Given the description of an element on the screen output the (x, y) to click on. 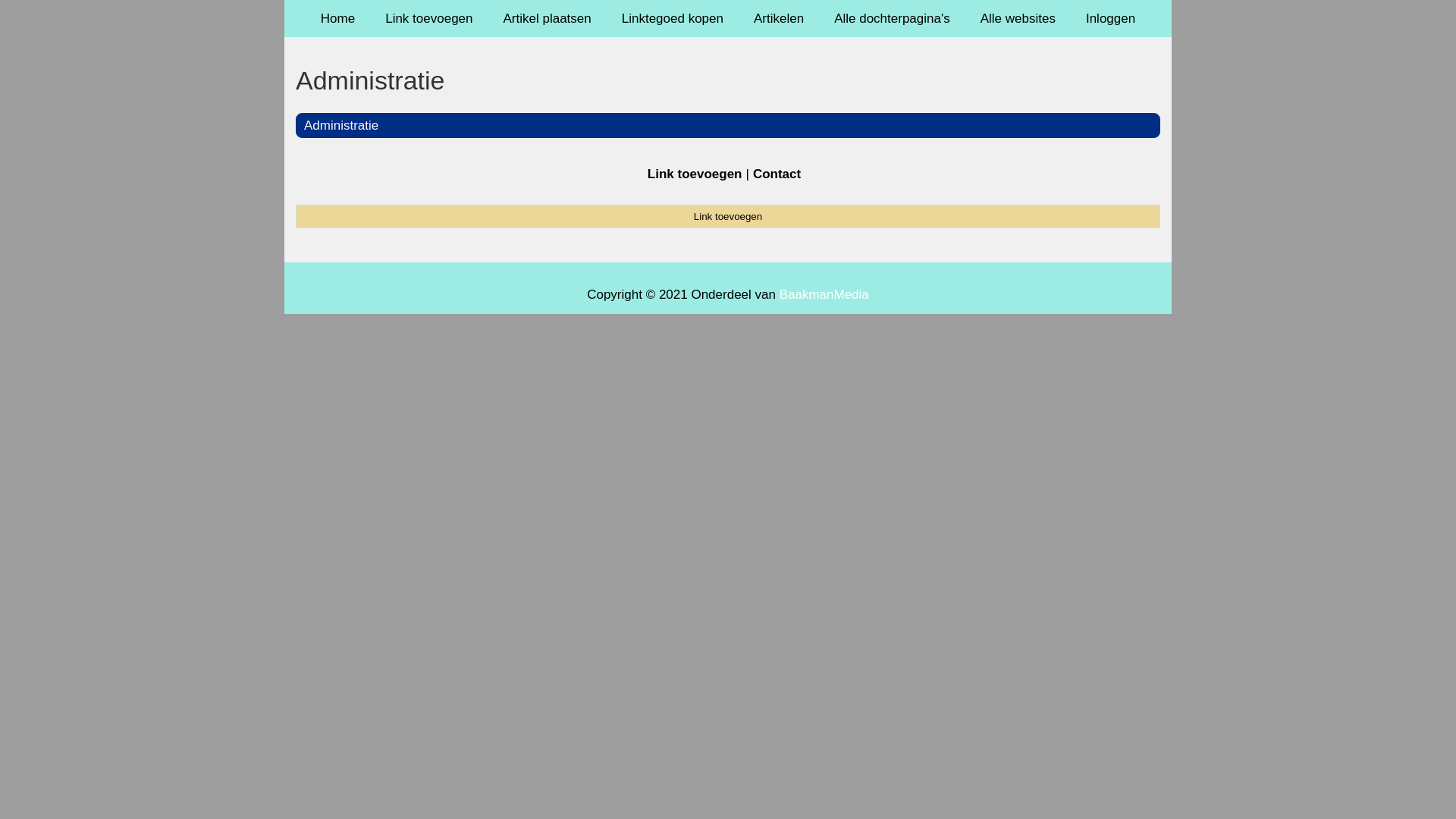
Alle websites Element type: text (1017, 18)
Link toevoegen Element type: text (428, 18)
Artikelen Element type: text (778, 18)
Artikel plaatsen Element type: text (547, 18)
Contact Element type: text (776, 173)
Link toevoegen Element type: text (694, 173)
Linktegoed kopen Element type: text (672, 18)
Administratie Element type: text (727, 80)
Alle dochterpagina's Element type: text (892, 18)
BaakmanMedia Element type: text (824, 294)
Inloggen Element type: text (1110, 18)
Administratie Element type: text (341, 125)
Home Element type: text (337, 18)
Link toevoegen Element type: text (727, 215)
